Given the description of an element on the screen output the (x, y) to click on. 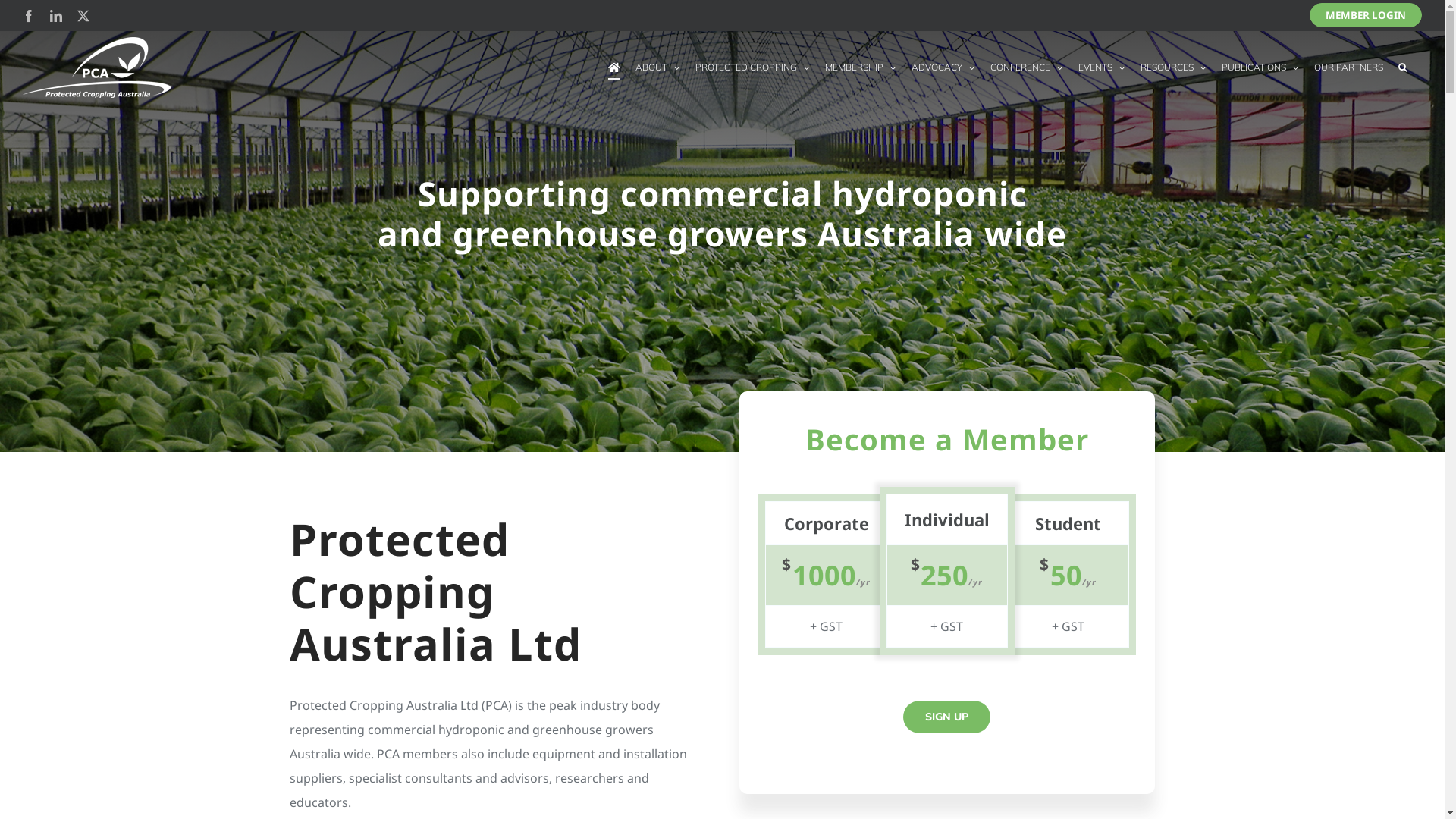
PUBLICATIONS Element type: text (1260, 67)
OUR PARTNERS Element type: text (1348, 67)
ADVOCACY Element type: text (943, 67)
EVENTS Element type: text (1101, 67)
PROTECTED CROPPING Element type: text (752, 67)
Facebook Element type: text (28, 15)
MEMBER LOGIN Element type: hover (1365, 15)
RESOURCES Element type: text (1173, 67)
MEMBERSHIP Element type: text (860, 67)
ABOUT Element type: text (657, 67)
MEMBER LOGIN Element type: text (1365, 15)
Search Element type: hover (1402, 67)
SIGN UP Element type: text (946, 716)
CONFERENCE Element type: text (1026, 67)
LinkedIn Element type: text (56, 15)
Twitter Element type: text (83, 15)
